Given the description of an element on the screen output the (x, y) to click on. 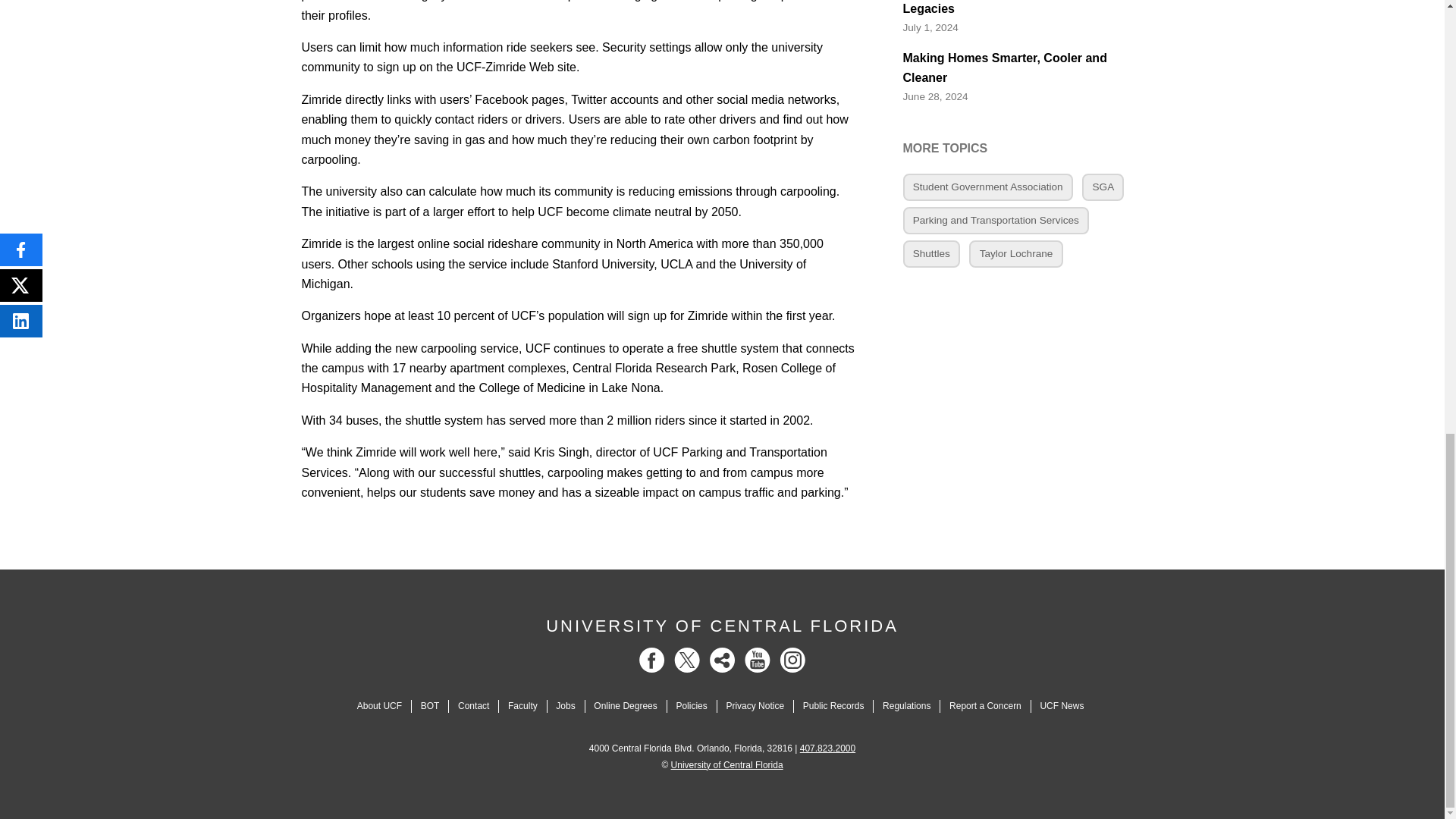
UCF Board of Trustees (429, 706)
SGA (1102, 186)
Shuttles (930, 253)
Parking and Transportation Services (995, 220)
Making Homes Smarter, Cooler and Cleaner (1022, 68)
Student Government Association (986, 186)
